Given the description of an element on the screen output the (x, y) to click on. 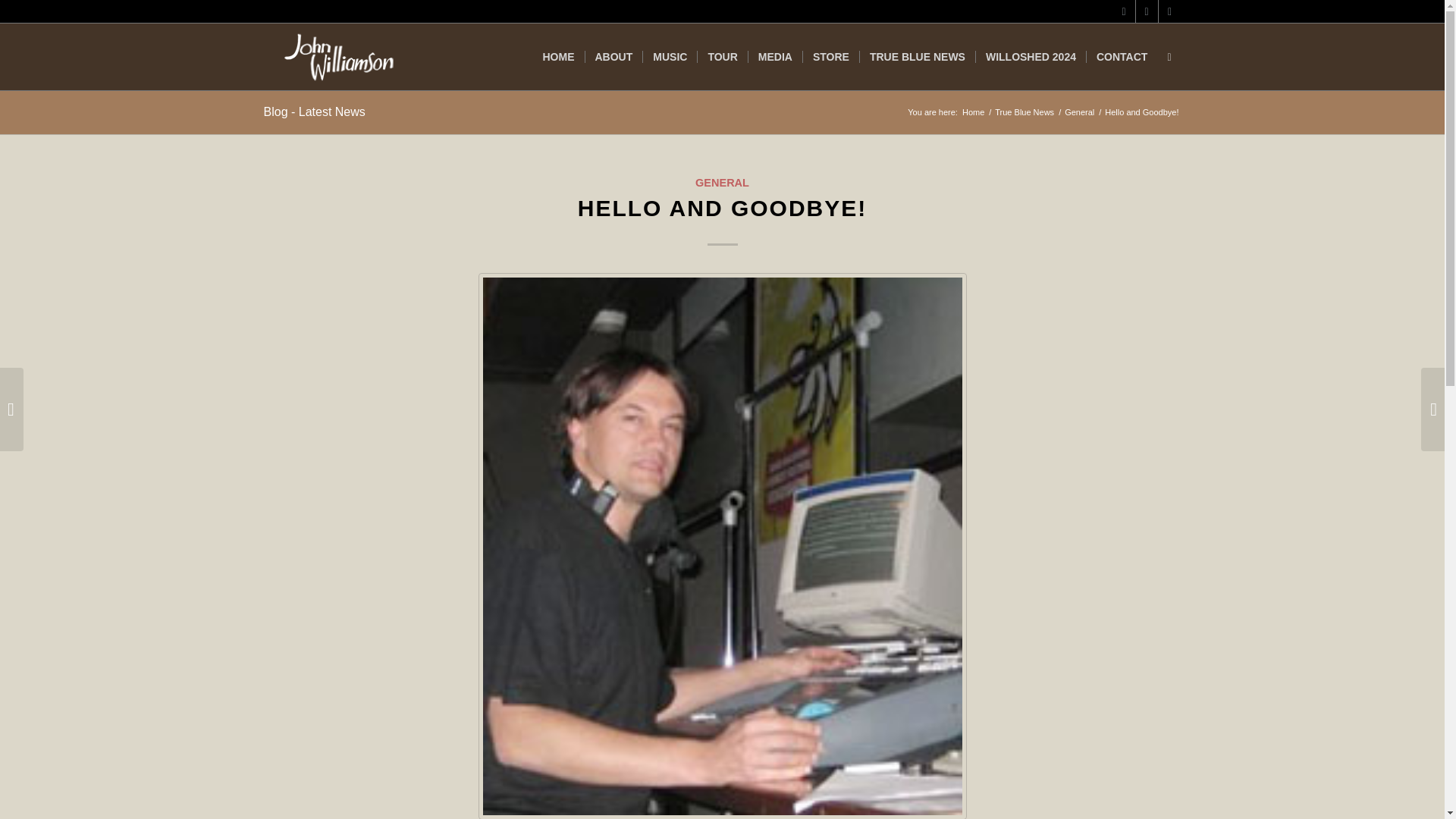
John Williamson (973, 112)
GENERAL (722, 182)
TRUE BLUE NEWS (917, 56)
Instagram (1169, 11)
True Blue News (1024, 112)
WILLOSHED 2024 (1030, 56)
logo2 (337, 56)
General (1079, 112)
Blog - Latest News (314, 111)
Home (973, 112)
CONTACT (1121, 56)
Youtube (1146, 11)
Facebook (1124, 11)
Permanent Link: Blog - Latest News (314, 111)
